Given the description of an element on the screen output the (x, y) to click on. 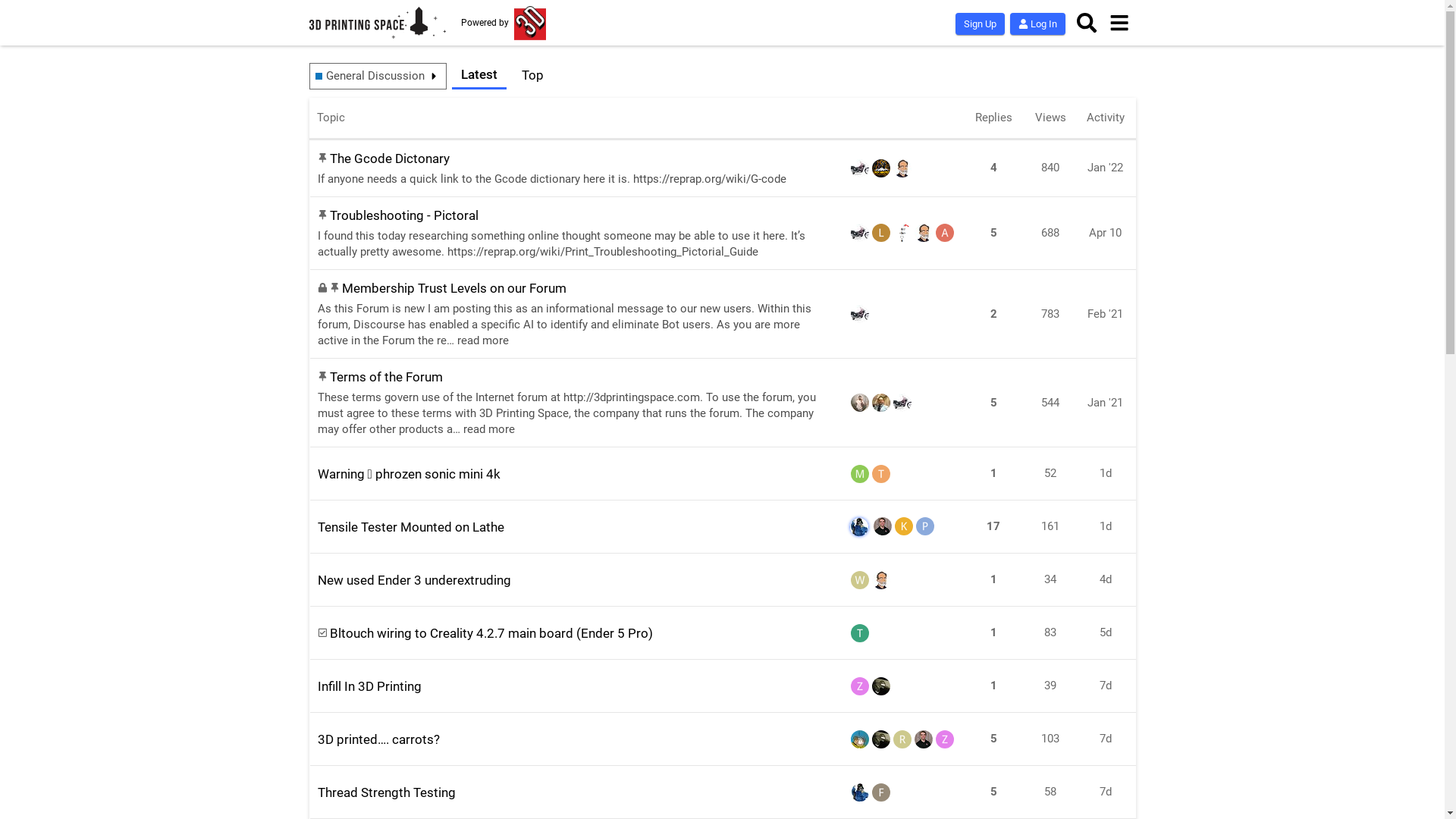
Jason - Original Poster, Most Recent Poster Element type: hover (859, 313)
Keith - Frequent Poster Element type: hover (881, 402)
Jason - Most Recent Poster Element type: hover (902, 402)
rsterne - Original Poster, Most Recent Poster Element type: hover (859, 526)
5 Element type: text (992, 233)
Terms of the Forum Element type: text (385, 376)
PJprincefpv - Frequent Poster Element type: hover (881, 168)
zeddyzain - Most Recent Poster Element type: hover (944, 739)
Thread Strength Testing Element type: text (385, 792)
Jason - Original Poster Element type: hover (859, 232)
5 Element type: text (992, 792)
Bltouch wiring to Creality 4.2.7 main board (Ender 5 Pro) Element type: text (490, 633)
mykepredko - Most Recent Poster Element type: hover (881, 580)
Apr 10 Element type: text (1105, 232)
5 Element type: text (992, 738)
7d Element type: text (1104, 791)
1 Element type: text (992, 473)
Infill In 3D Printing Element type: text (368, 686)
Will761 - Original Poster Element type: hover (859, 580)
mykepredko - Most Recent Poster Element type: hover (902, 168)
zeddyzain - Original Poster Element type: hover (859, 686)
Tensile Tester Mounted on Lathe Element type: text (409, 527)
1 Element type: text (992, 632)
kitedemon - Frequent Poster Element type: hover (903, 526)
4d Element type: text (1104, 579)
5d Element type: text (1104, 632)
Latest Element type: text (478, 75)
5 Element type: text (992, 402)
AJ-3D - Most Recent Poster Element type: hover (944, 232)
rgrgoyal - Frequent Poster Element type: hover (902, 739)
Loosenut - Frequent Poster Element type: hover (881, 739)
Jan '21 Element type: text (1104, 402)
Matthew - Frequent Poster Element type: hover (923, 739)
mykepredko - Frequent Poster Element type: hover (923, 232)
eeffoc - Frequent Poster Element type: hover (902, 232)
17 Element type: text (993, 526)
rsterne - Original Poster Element type: hover (859, 792)
Loosenut - Most Recent Poster Element type: hover (881, 686)
1 Element type: text (992, 685)
4 Element type: text (992, 167)
This topic is closed; it no longer accepts new replies Element type: hover (321, 287)
Top Element type: text (532, 75)
7d Element type: text (1104, 685)
Matthew - Frequent Poster Element type: hover (882, 526)
Plug - Frequent Poster Element type: hover (925, 526)
SpaceMoose - Original Poster Element type: hover (859, 739)
menu Element type: hover (1119, 22)
Jason - Original Poster Element type: hover (859, 168)
Search Element type: hover (1086, 22)
LEGOManiac - Frequent Poster Element type: hover (881, 232)
2 Element type: text (992, 314)
1 Element type: text (992, 579)
1d Element type: text (1104, 526)
tony - Original Poster Element type: hover (859, 402)
Powered by Element type: text (503, 23)
TomP - Original Poster, Most Recent Poster, Accepted Answer Element type: hover (859, 633)
Sign Up Element type: text (979, 23)
New used Ender 3 underextruding Element type: text (413, 580)
Tiago - Most Recent Poster Element type: hover (881, 473)
7d Element type: text (1104, 738)
Log In Element type: text (1037, 23)
Membership Trust Levels on our Forum Element type: text (454, 288)
Marc - Original Poster Element type: hover (859, 473)
Filek - Most Recent Poster Element type: hover (881, 792)
Troubleshooting - Pictoral Element type: text (403, 215)
1d Element type: text (1104, 473)
Feb '21 Element type: text (1104, 313)
The Gcode Dictonary Element type: text (389, 158)
This topic has a solution Element type: hover (321, 632)
Jan '22 Element type: text (1104, 167)
